Given the description of an element on the screen output the (x, y) to click on. 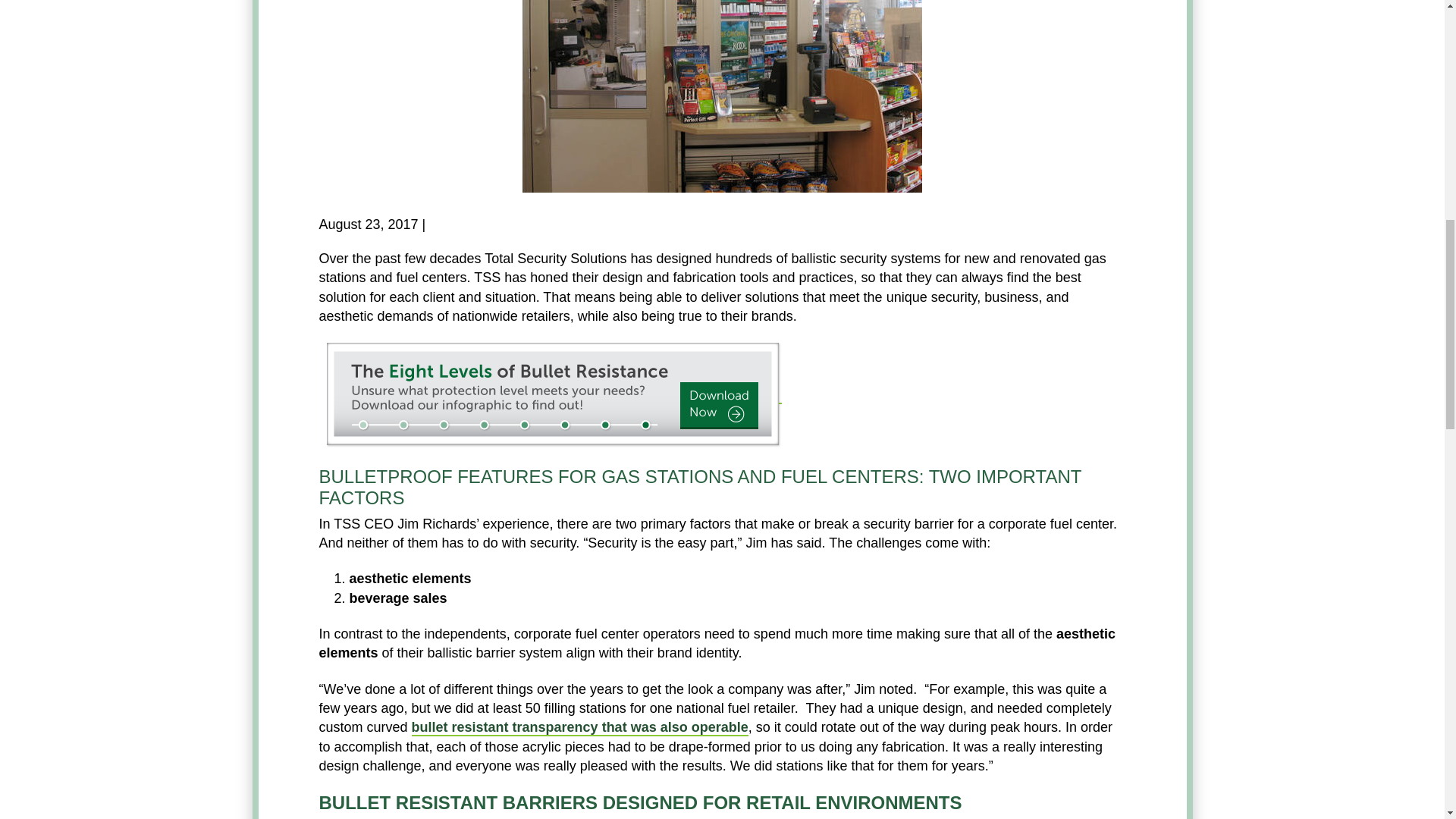
Eight Levels bullet resistance (553, 395)
